Given the description of an element on the screen output the (x, y) to click on. 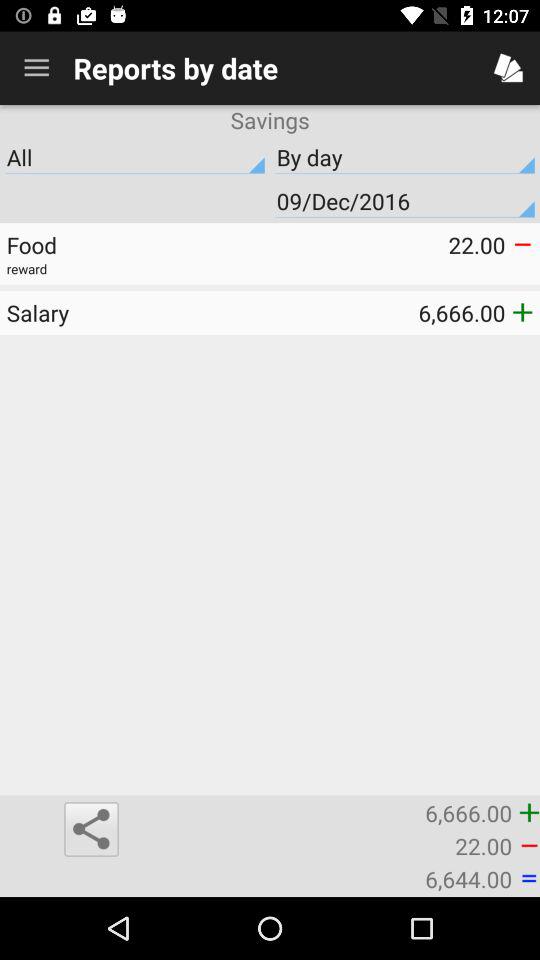
press item to the left of 6,666.00 item (91, 829)
